Given the description of an element on the screen output the (x, y) to click on. 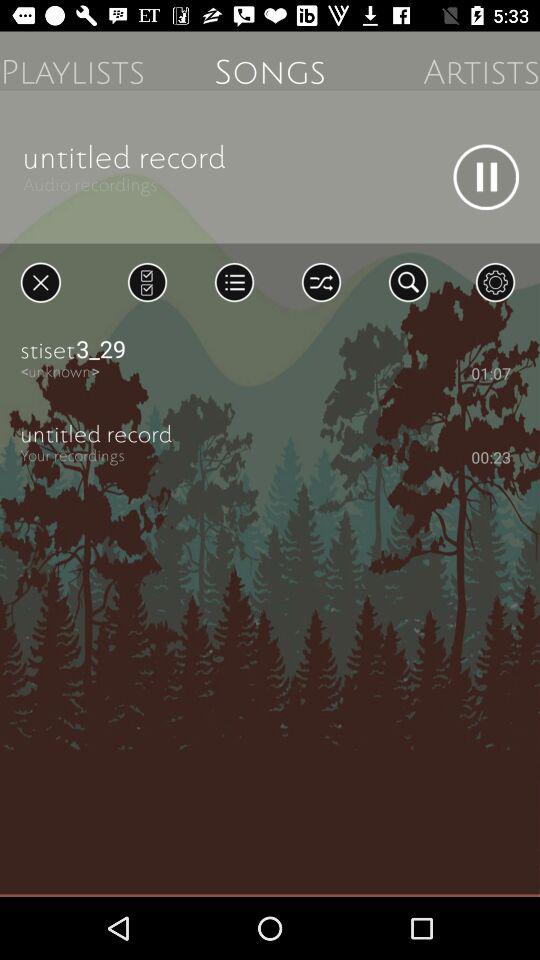
go to settings (495, 282)
